Given the description of an element on the screen output the (x, y) to click on. 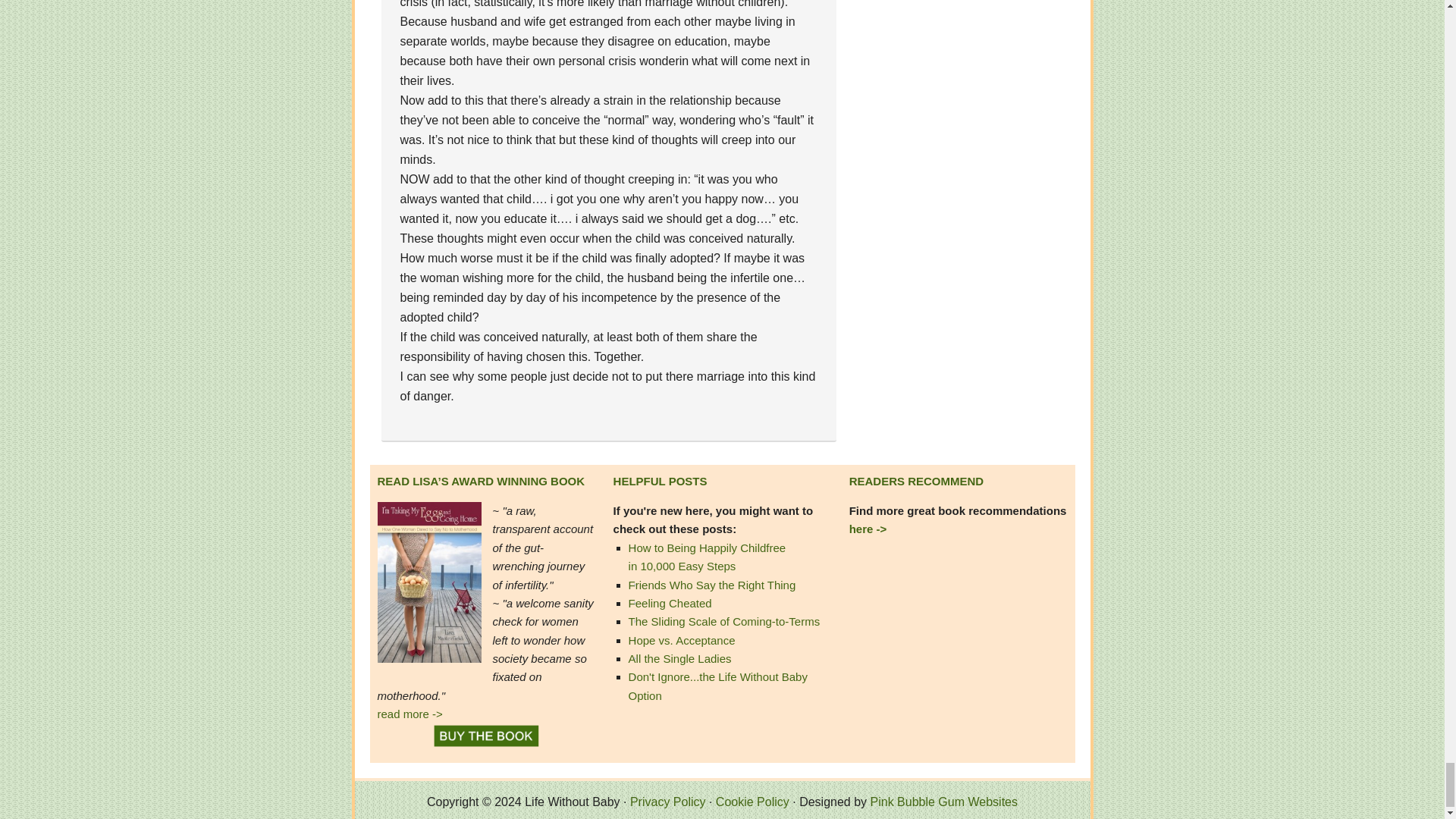
How to be Happily Childfree in 10,000 Easy Steps (707, 556)
The Sliding Scale of Coming-to-Terms (724, 621)
Friends Who Said the Right Thing (712, 584)
Hope vs. Acceptance (681, 640)
Pink Bubble Gum Websites (943, 801)
